Given the description of an element on the screen output the (x, y) to click on. 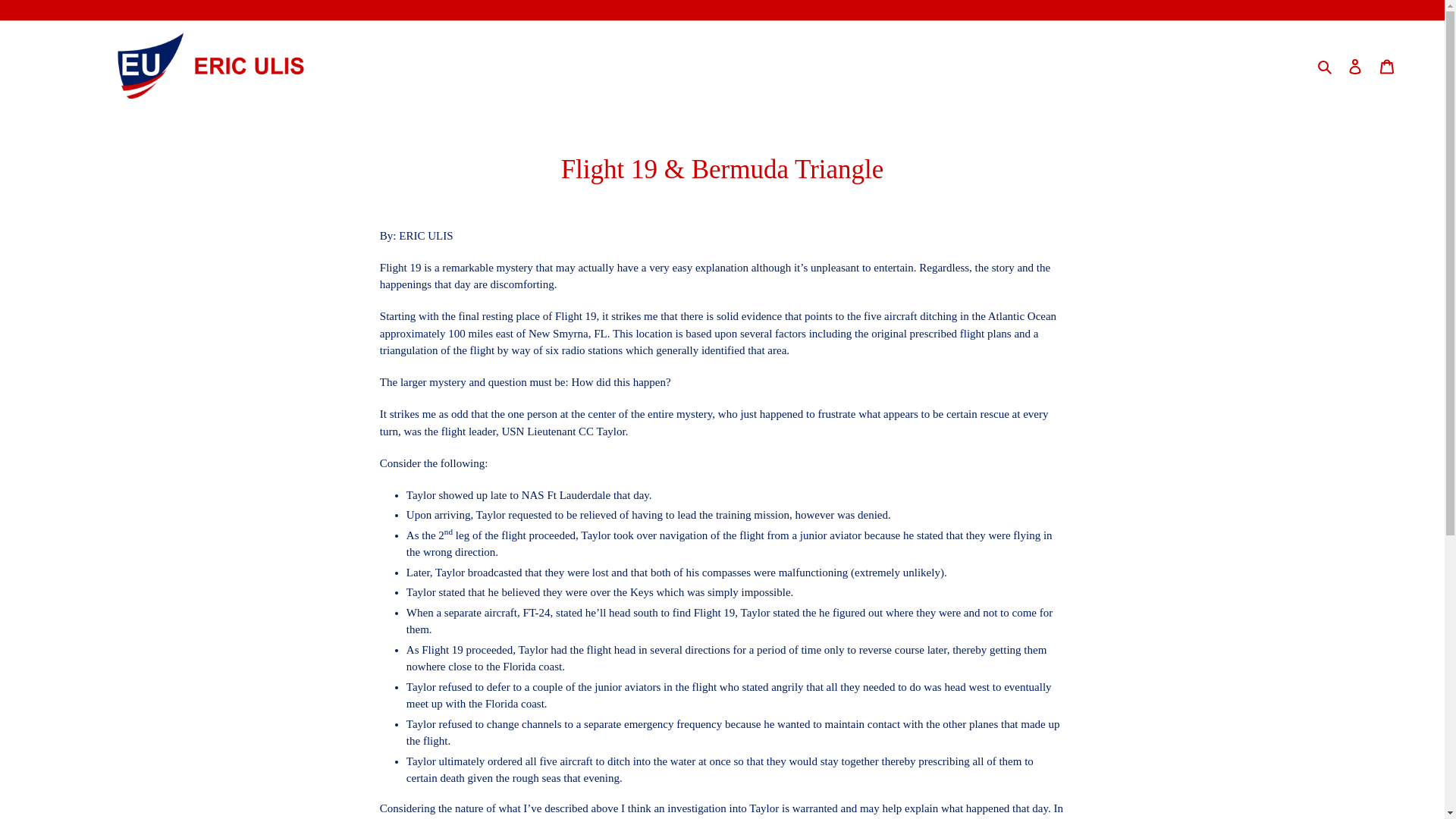
Log in (1355, 65)
Search (1326, 66)
Cart (1387, 65)
